Given the description of an element on the screen output the (x, y) to click on. 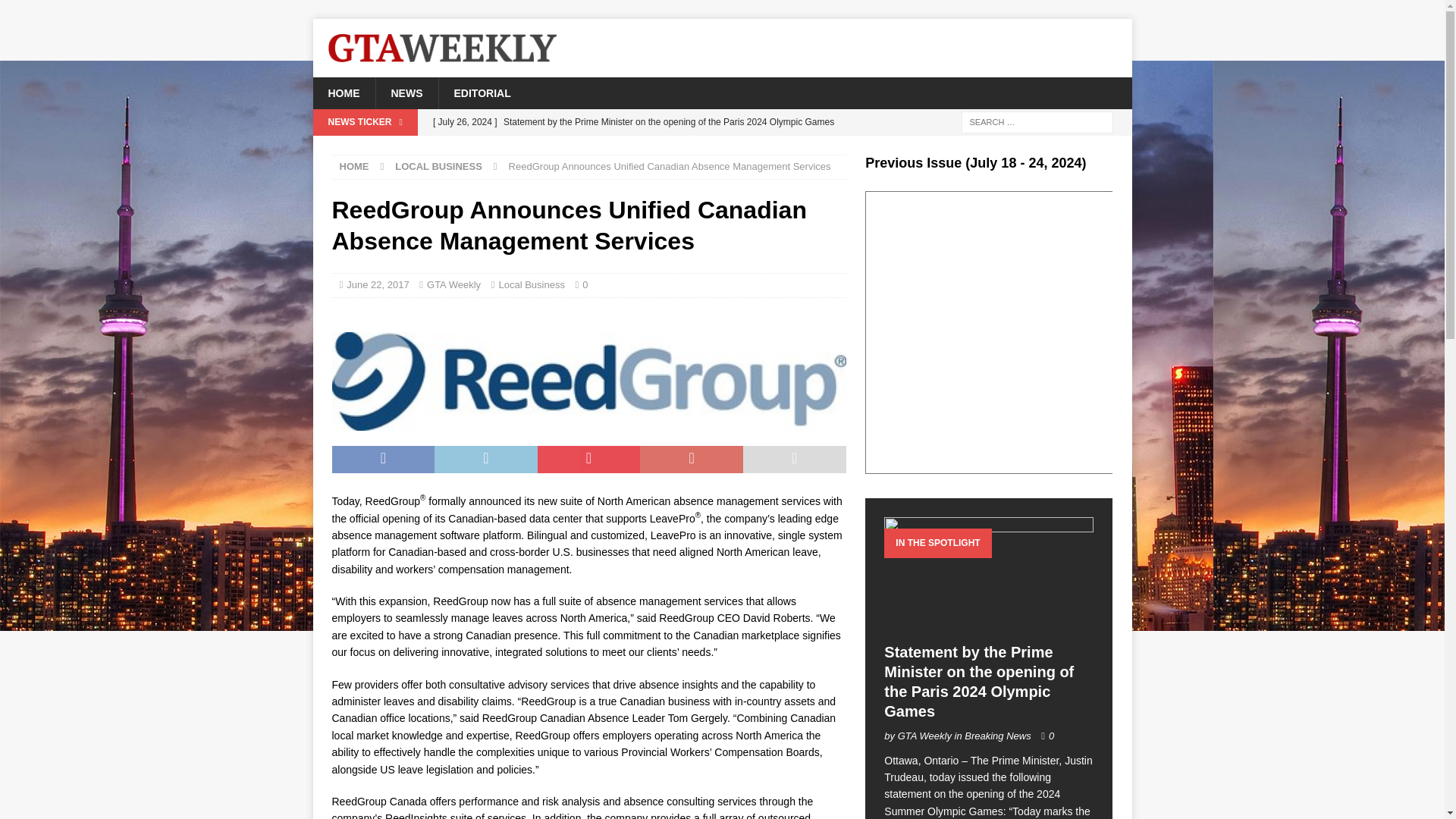
June 22, 2017 (377, 284)
NEWS (406, 92)
GTA Weekly (453, 284)
Search (56, 11)
EDITORIAL (481, 92)
HOME (343, 92)
Local Business (530, 284)
LOCAL BUSINESS (437, 165)
HOME (354, 165)
